Given the description of an element on the screen output the (x, y) to click on. 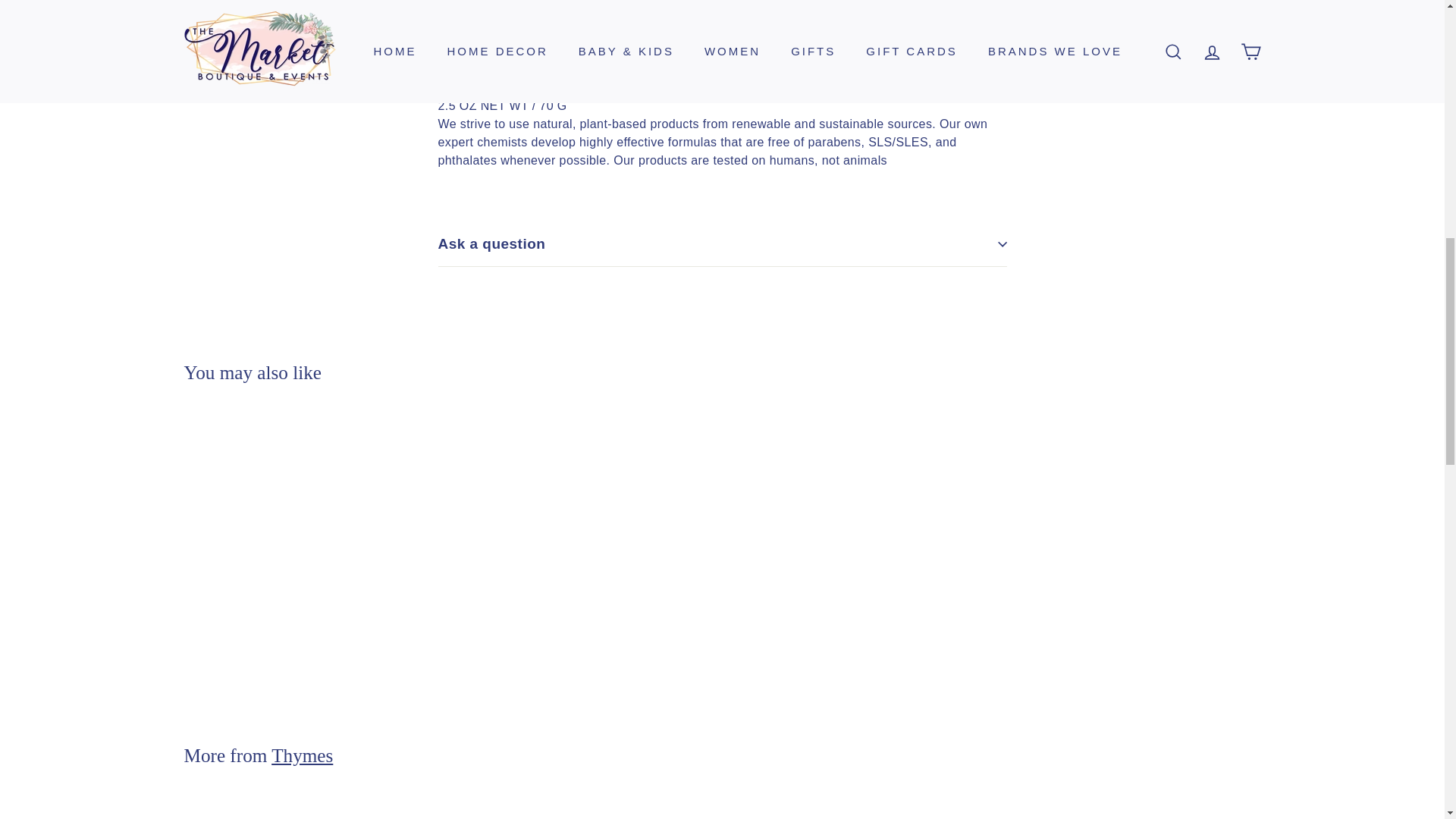
Thymes (301, 755)
